Given the description of an element on the screen output the (x, y) to click on. 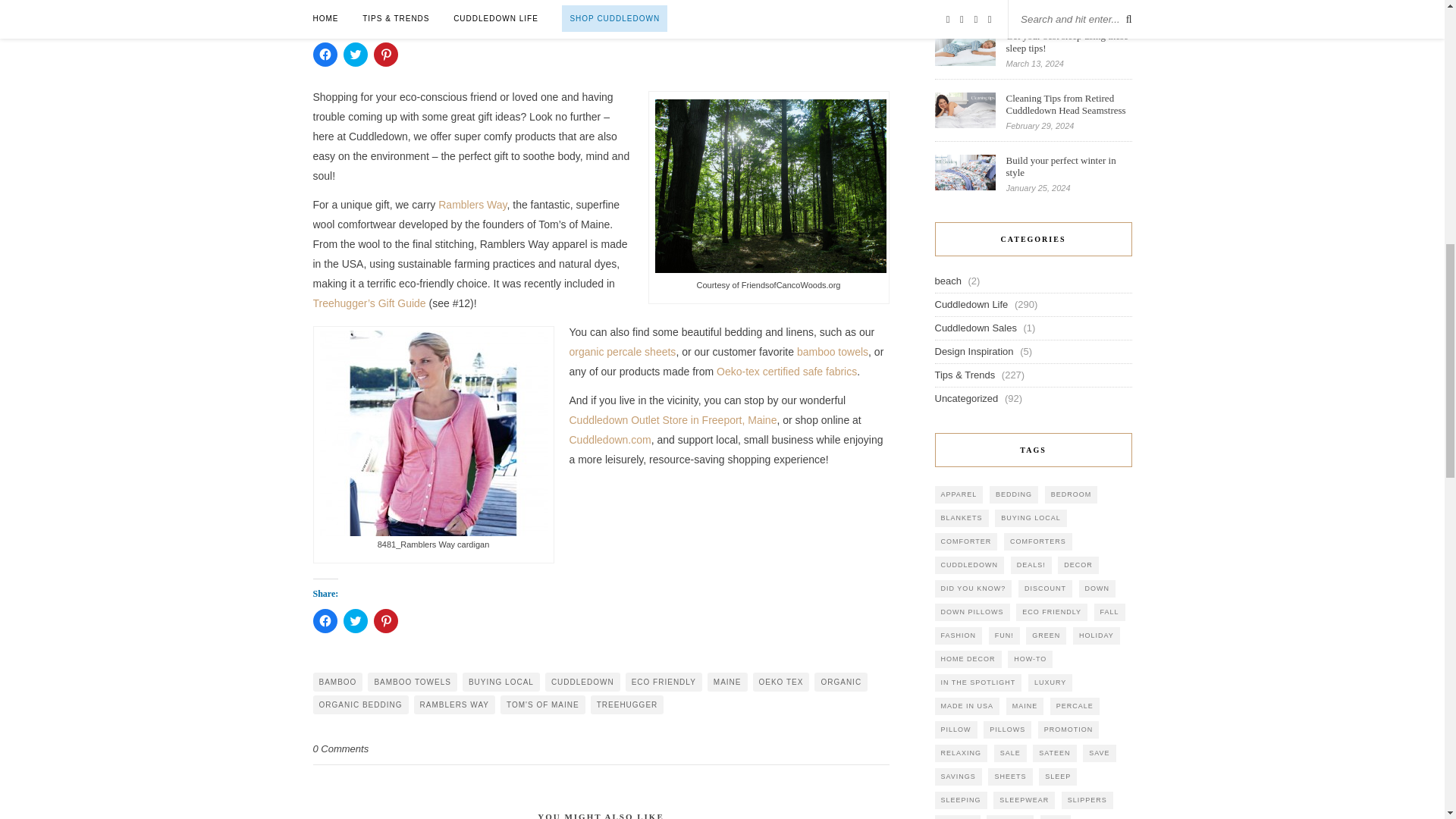
Ramblers Way in Treehugger.com (369, 303)
Click to share on Twitter (354, 54)
0 Comments (340, 748)
ORGANIC BEDDING (360, 704)
Cuddledown Outlet Store in Freeport, Maine (672, 419)
Cuddledown Organic Percale Sheets (622, 351)
TREEHUGGER (627, 704)
Click to share on Pinterest (384, 54)
Canco Woods (770, 185)
Oeko-tex certified safe fabrics (785, 371)
